Given the description of an element on the screen output the (x, y) to click on. 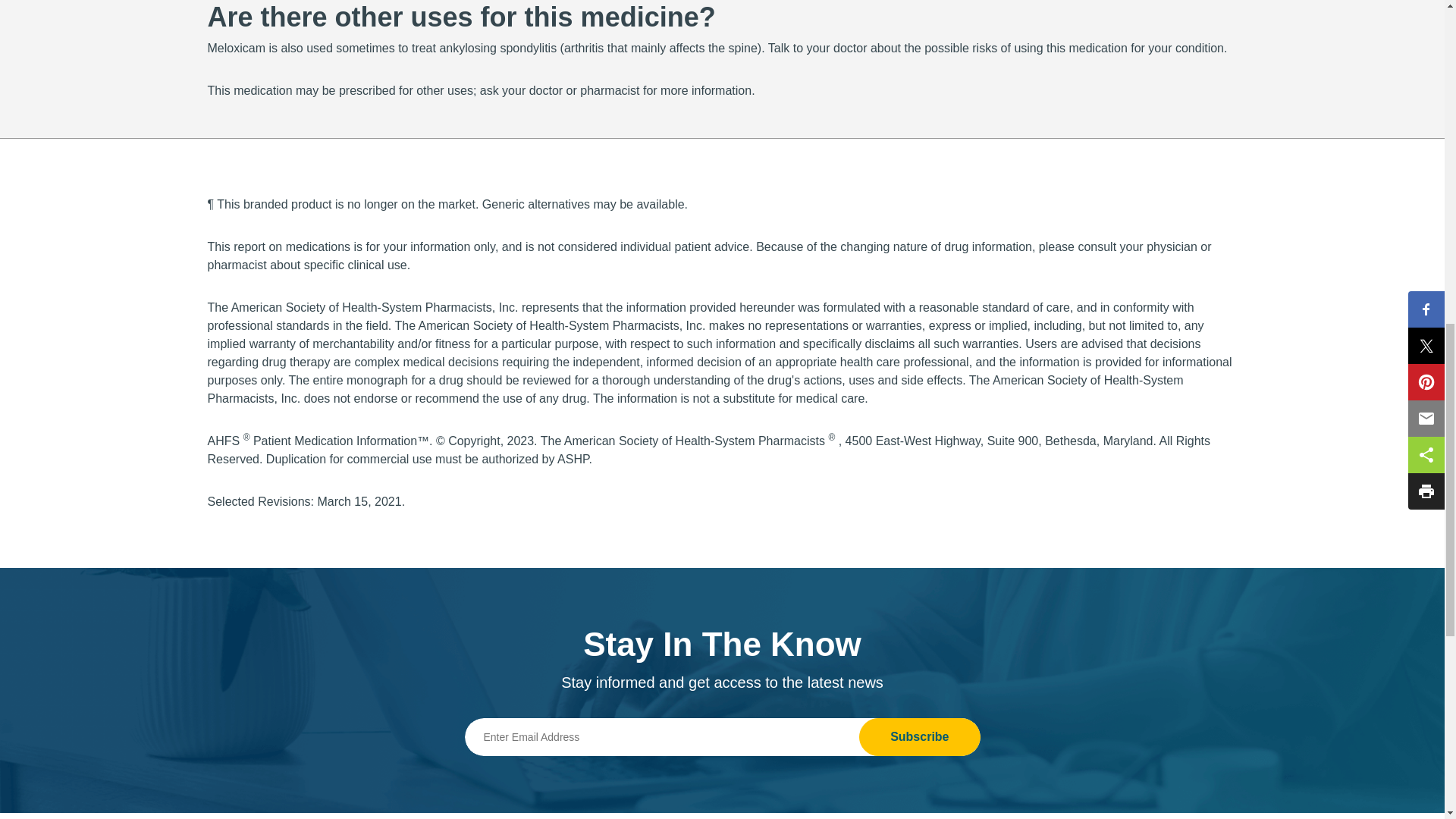
Subscribe (919, 736)
